Given the description of an element on the screen output the (x, y) to click on. 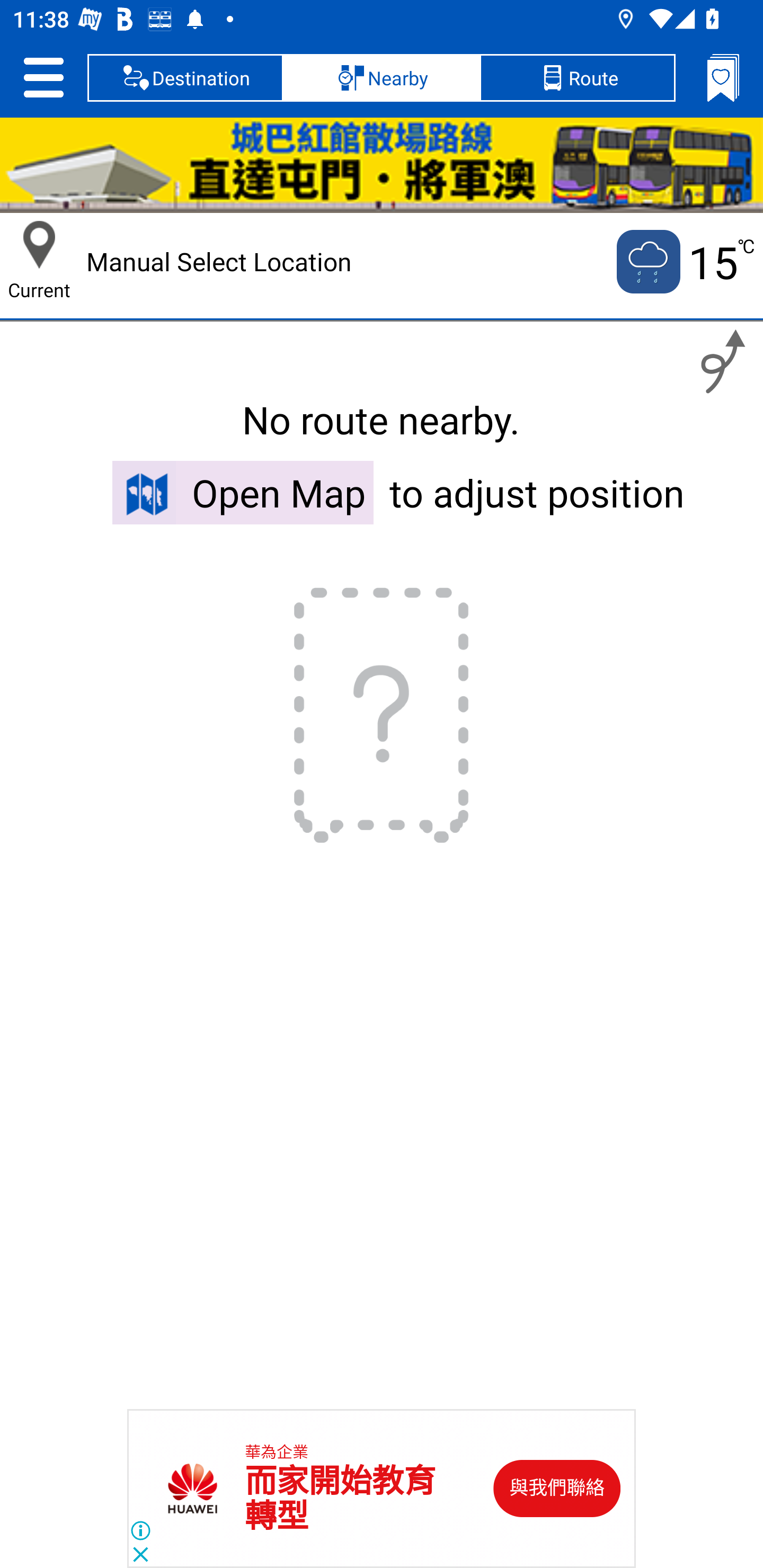
Destination (185, 77)
Nearby, selected (381, 77)
Route (577, 77)
Bookmarks (723, 77)
Setting (43, 77)
HKC (381, 165)
Current Location (38, 244)
Current temputure is  15  no 15 ℃ (684, 261)
Open Map (242, 491)
華為企業 (276, 1452)
與我們聯絡 (556, 1488)
而家開始教育 轉型 而家開始教育 轉型 (339, 1498)
